Given the description of an element on the screen output the (x, y) to click on. 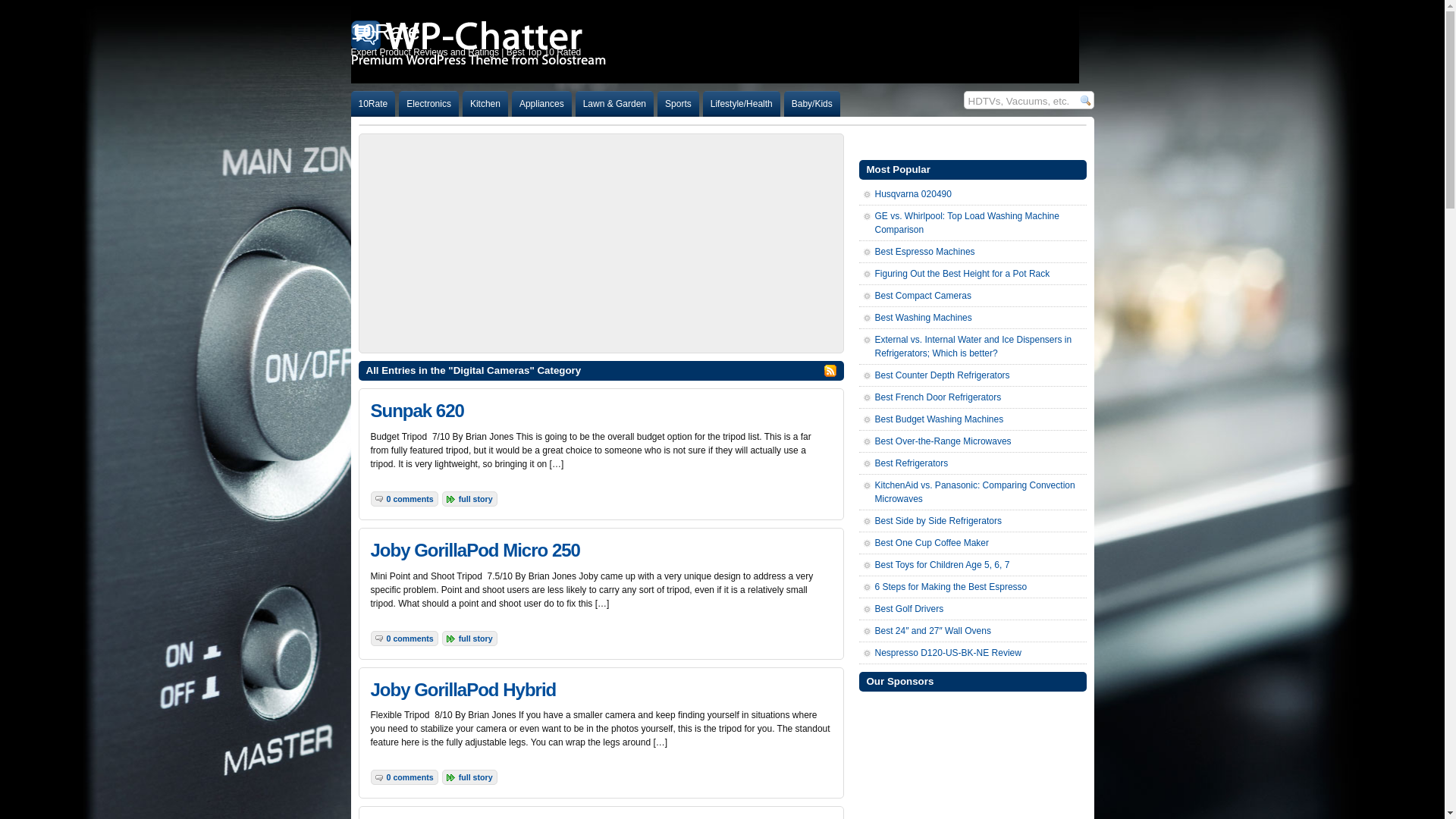
6 Steps for Making the Best Espresso Element type: text (951, 586)
Sports Element type: text (678, 103)
Best French Door Refrigerators Element type: text (938, 397)
Nespresso D120-US-BK-NE Review Element type: text (948, 652)
Best Over-the-Range Microwaves Element type: text (943, 441)
0 comments Element type: text (409, 776)
Best Refrigerators Element type: text (911, 463)
Best One Cup Coffee Maker Element type: text (932, 542)
Sunpak 620 Element type: text (416, 410)
KitchenAid vs. Panasonic: Comparing Convection Microwaves Element type: text (975, 492)
Best Compact Cameras Element type: text (923, 295)
Electronics Element type: text (428, 103)
GE vs. Whirlpool: Top Load Washing Machine Comparison Element type: text (967, 222)
Baby/Kids Element type: text (812, 103)
Best Budget Washing Machines Element type: text (939, 419)
Figuring Out the Best Height for a Pot Rack Element type: text (962, 273)
0 comments Element type: text (409, 498)
Joby GorillaPod Hybrid Element type: text (462, 689)
Best Counter Depth Refrigerators Element type: text (942, 375)
Appliances Element type: text (541, 103)
Best Espresso Machines Element type: text (925, 251)
full story Element type: text (475, 498)
Advertisement Element type: hover (601, 243)
0 comments Element type: text (409, 638)
Joby GorillaPod Micro 250 Element type: text (474, 549)
Kitchen Element type: text (485, 103)
Best Toys for Children Age 5, 6, 7 Element type: text (942, 564)
Lifestyle/Health Element type: text (741, 103)
Best Washing Machines Element type: text (923, 317)
RSS Feed for the 'Digital Cameras' Category Element type: hover (829, 370)
Husqvarna 020490 Element type: text (913, 193)
10Rate Element type: text (372, 103)
Best Side by Side Refrigerators Element type: text (938, 520)
Lawn & Garden Element type: text (614, 103)
full story Element type: text (475, 638)
Best Golf Drivers Element type: text (909, 608)
full story Element type: text (475, 776)
